Given the description of an element on the screen output the (x, y) to click on. 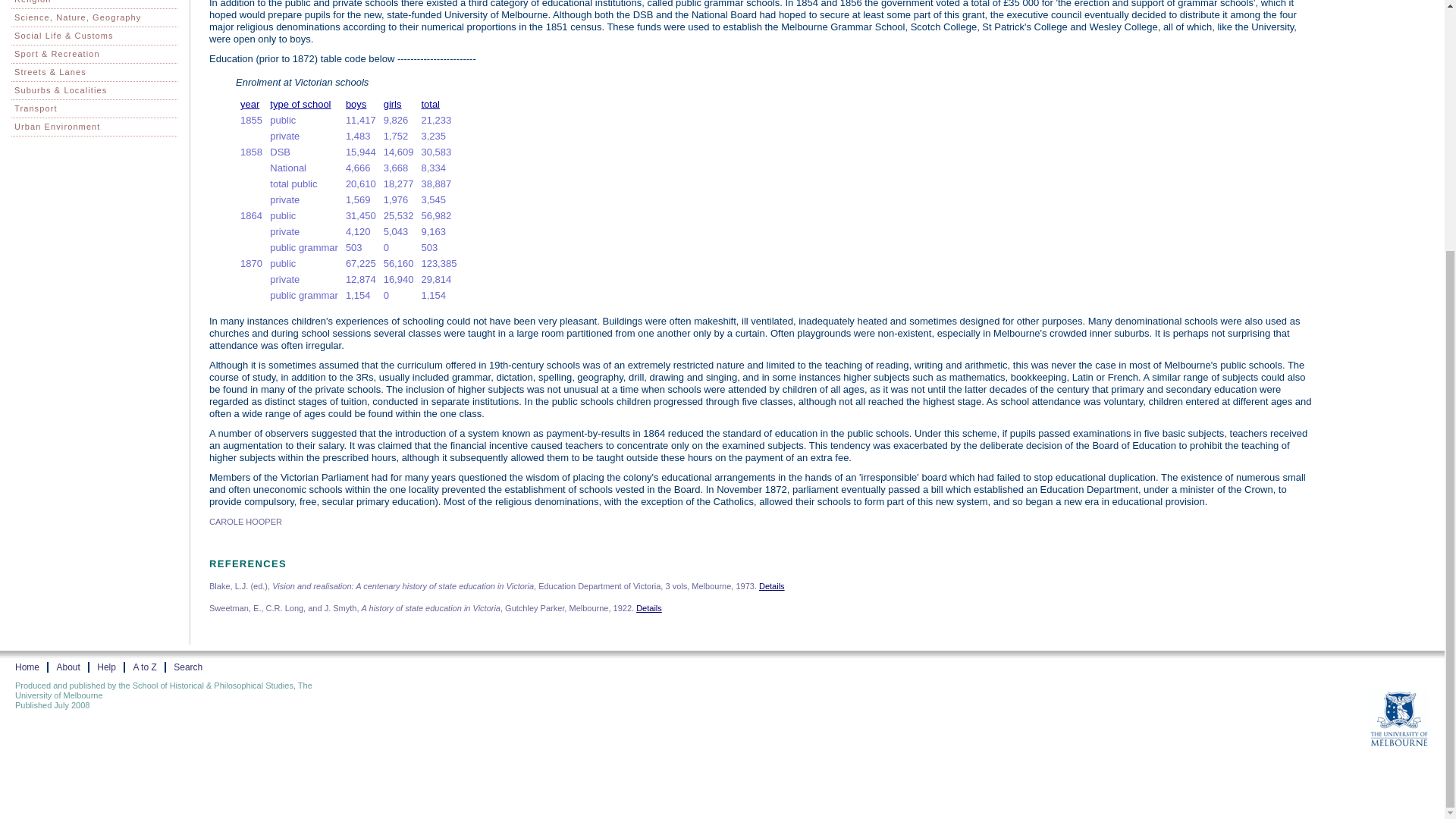
Help (106, 666)
Home (26, 666)
Transport (94, 108)
Religion (94, 4)
About (68, 666)
Urban Environment (94, 126)
Details (771, 585)
Science, Nature, Geography (94, 18)
A to Z (143, 666)
Details (649, 607)
